Given the description of an element on the screen output the (x, y) to click on. 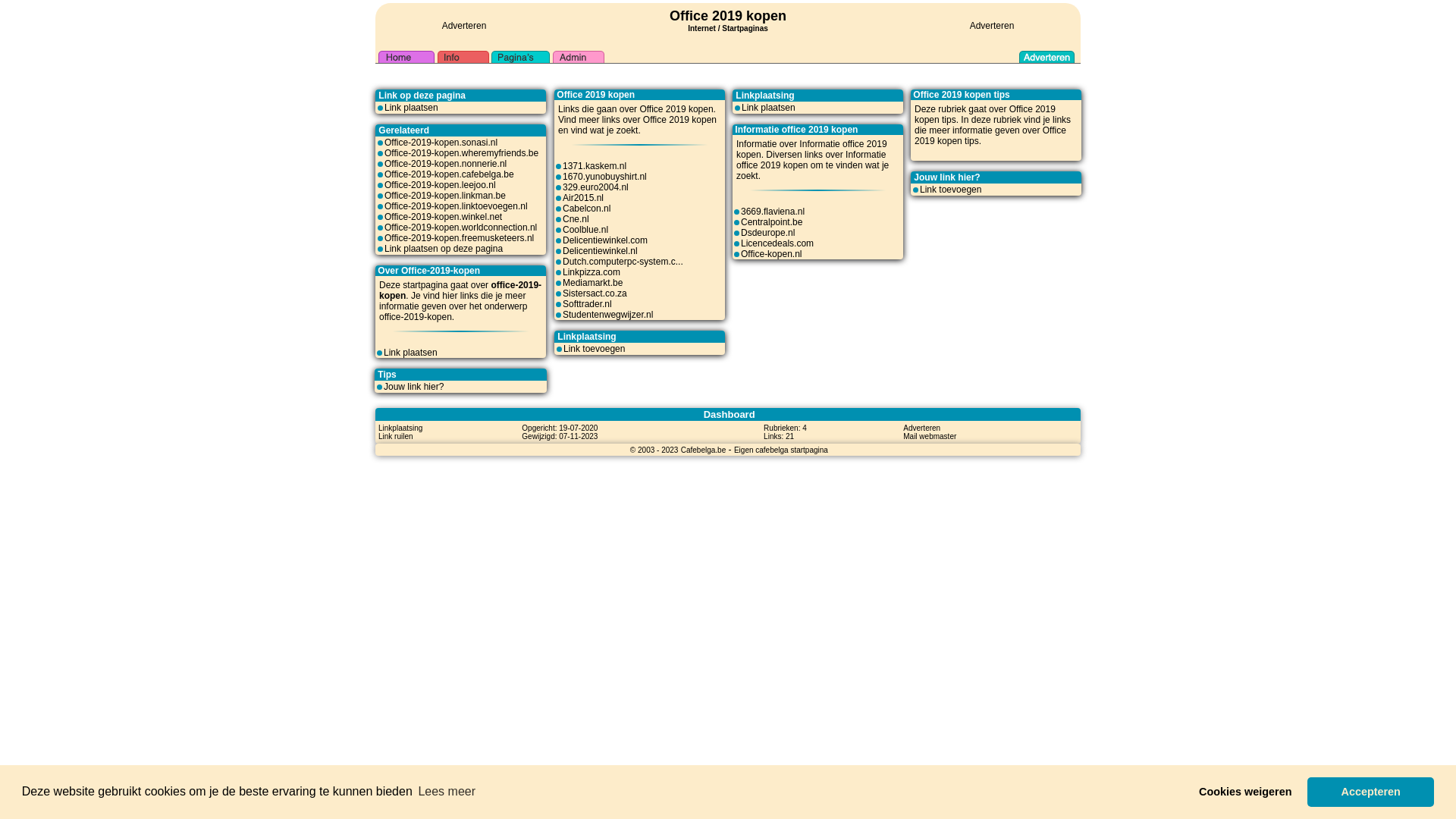
Delicentiewinkel.nl Element type: text (599, 250)
Coolblue.nl Element type: text (585, 229)
3669.flaviena.nl Element type: text (772, 211)
329.euro2004.nl Element type: text (595, 187)
Office 2019 kopen Element type: text (727, 15)
Internet Element type: text (701, 26)
Cafebelga.be Element type: text (703, 449)
Link plaatsen op deze pagina Element type: text (443, 248)
Accepteren Element type: text (1370, 791)
Softtrader.nl Element type: text (586, 303)
Centralpoint.be Element type: text (771, 221)
Link toevoegen Element type: text (593, 348)
Licencedeals.com Element type: text (776, 243)
Link plaatsen Element type: text (411, 107)
Adverteren Element type: text (991, 25)
Cookies weigeren Element type: text (1245, 791)
Office-2019-kopen.leejoo.nl Element type: text (439, 184)
Linkplaatsing Element type: text (400, 427)
Office-2019-kopen.nonnerie.nl Element type: text (445, 163)
Office-2019-kopen.wheremyfriends.be Element type: text (461, 152)
Delicentiewinkel.com Element type: text (604, 240)
Link plaatsen Element type: text (768, 107)
1371.kaskem.nl Element type: text (594, 165)
Dsdeurope.nl Element type: text (767, 232)
Link plaatsen Element type: text (410, 352)
Linkpizza.com Element type: text (591, 271)
Lees meer Element type: text (446, 791)
Office-2019-kopen.worldconnection.nl Element type: text (460, 227)
Office-2019-kopen.linkman.be Element type: text (444, 195)
Eigen cafebelga startpagina Element type: text (781, 449)
Office-kopen.nl Element type: text (771, 253)
Adverteren Element type: text (464, 25)
Air2015.nl Element type: text (582, 197)
Office-2019-kopen.winkel.net Element type: text (443, 216)
Mediamarkt.be Element type: text (592, 282)
Office-2019-kopen.linktoevoegen.nl Element type: text (455, 205)
Office-2019-kopen.sonasi.nl Element type: text (440, 142)
Cabelcon.nl Element type: text (586, 208)
Jouw link hier? Element type: text (413, 386)
1670.yunobuyshirt.nl Element type: text (604, 176)
Dutch.computerpc-system.c... Element type: text (622, 261)
Link toevoegen Element type: text (950, 189)
Adverteren Element type: text (921, 427)
Link ruilen Element type: text (395, 435)
Office-2019-kopen.cafebelga.be Element type: text (449, 174)
Cne.nl Element type: text (575, 218)
Startpaginas Element type: text (744, 28)
Studentenwegwijzer.nl Element type: text (607, 314)
Mail webmaster Element type: text (929, 435)
Office-2019-kopen.freemusketeers.nl Element type: text (458, 237)
Sistersact.co.za Element type: text (594, 293)
